Given the description of an element on the screen output the (x, y) to click on. 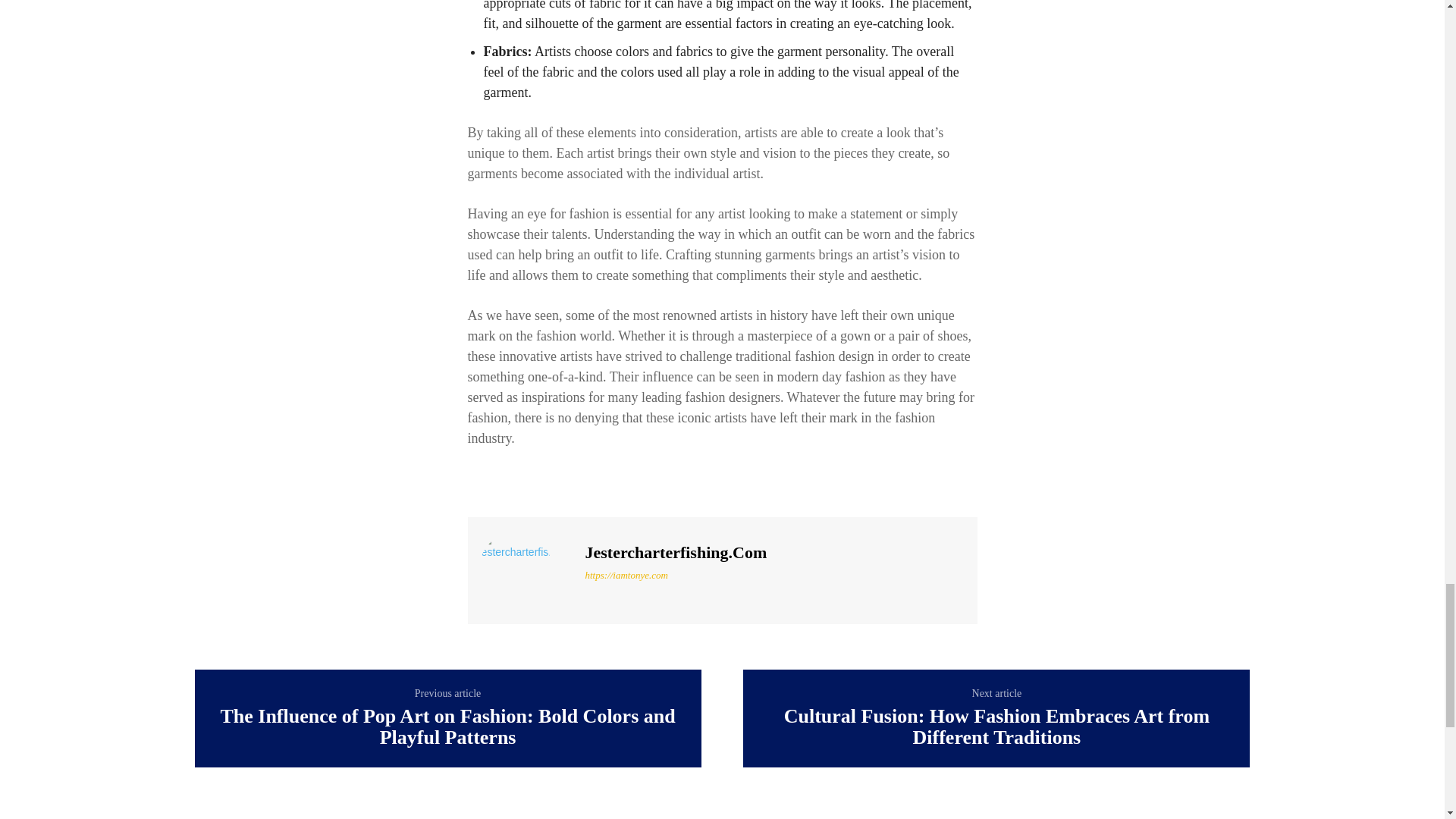
jestercharterfishing.com (524, 568)
